Given the description of an element on the screen output the (x, y) to click on. 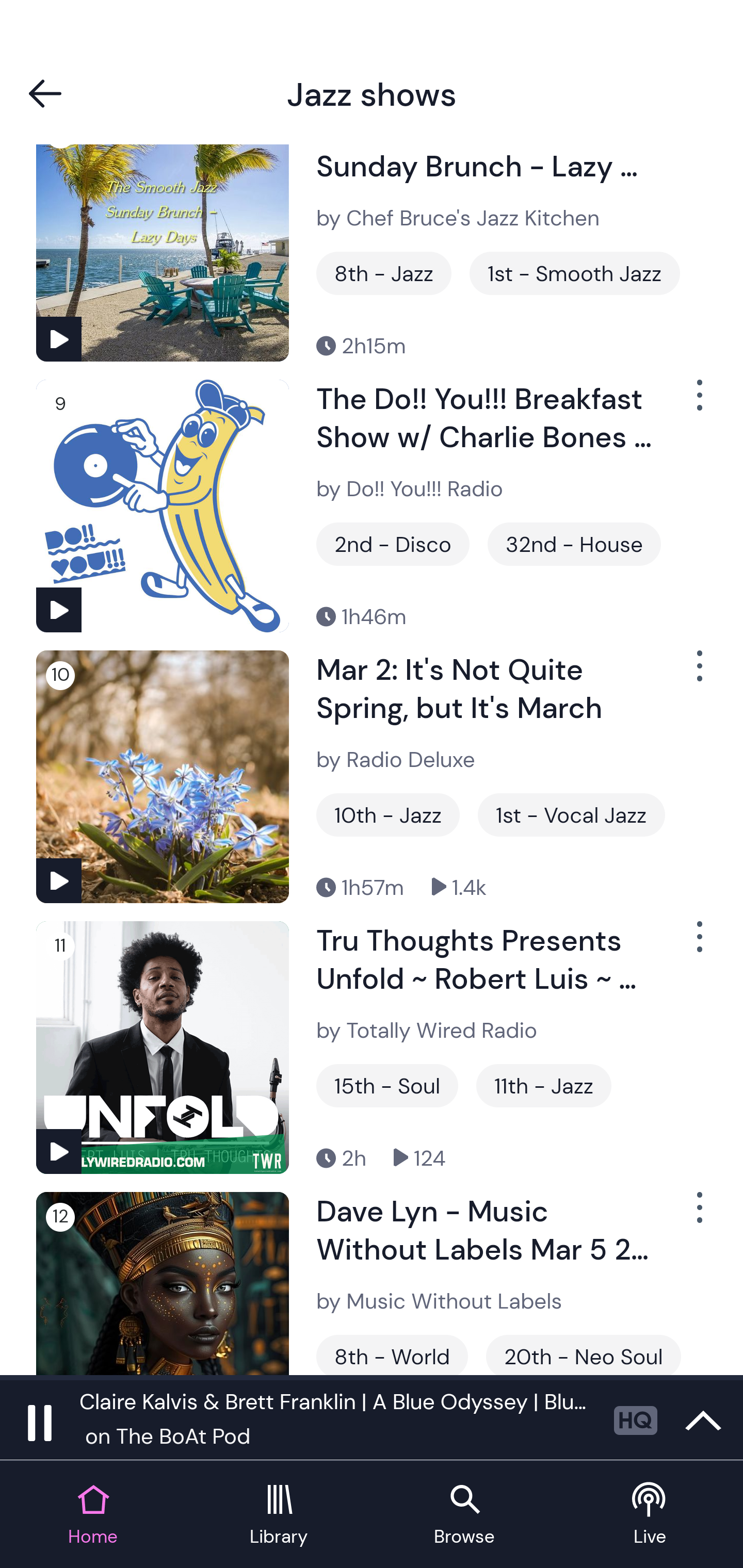
8th - Jazz (383, 273)
1st - Smooth Jazz (574, 273)
Show Options Menu Button (697, 402)
2nd - Disco (392, 544)
32nd - House (574, 544)
Show Options Menu Button (697, 673)
10th - Jazz (387, 815)
1st - Vocal Jazz (570, 815)
Show Options Menu Button (697, 944)
15th - Soul (387, 1085)
11th - Jazz (543, 1085)
Show Options Menu Button (697, 1214)
8th - World (392, 1354)
20th - Neo Soul (583, 1354)
Home tab Home (92, 1515)
Library tab Library (278, 1515)
Browse tab Browse (464, 1515)
Live tab Live (650, 1515)
